Given the description of an element on the screen output the (x, y) to click on. 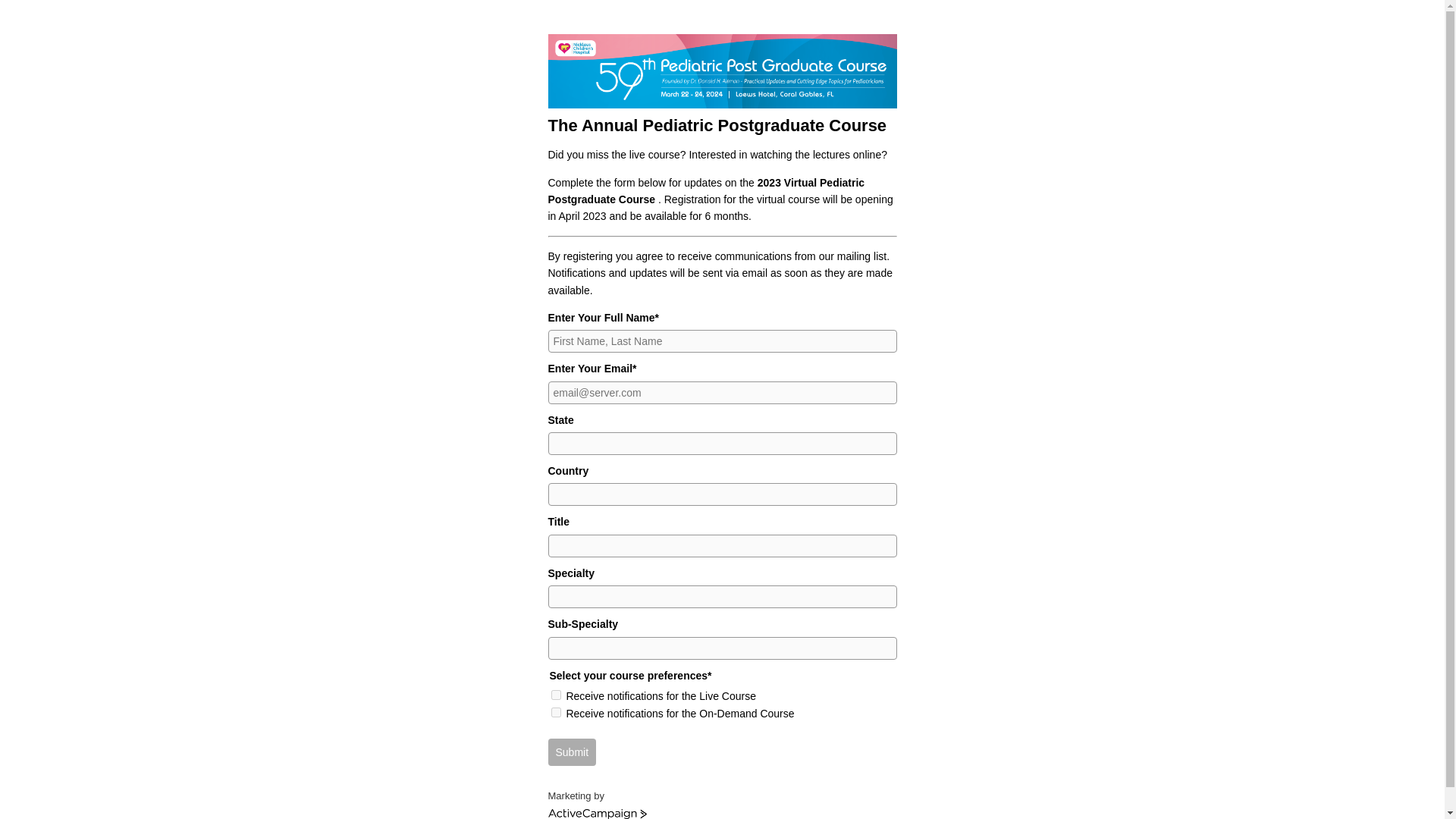
Receive notifications for the Live Course (555, 695)
Submit (571, 751)
Receive notifications for the On-Demand Course (555, 712)
